Given the description of an element on the screen output the (x, y) to click on. 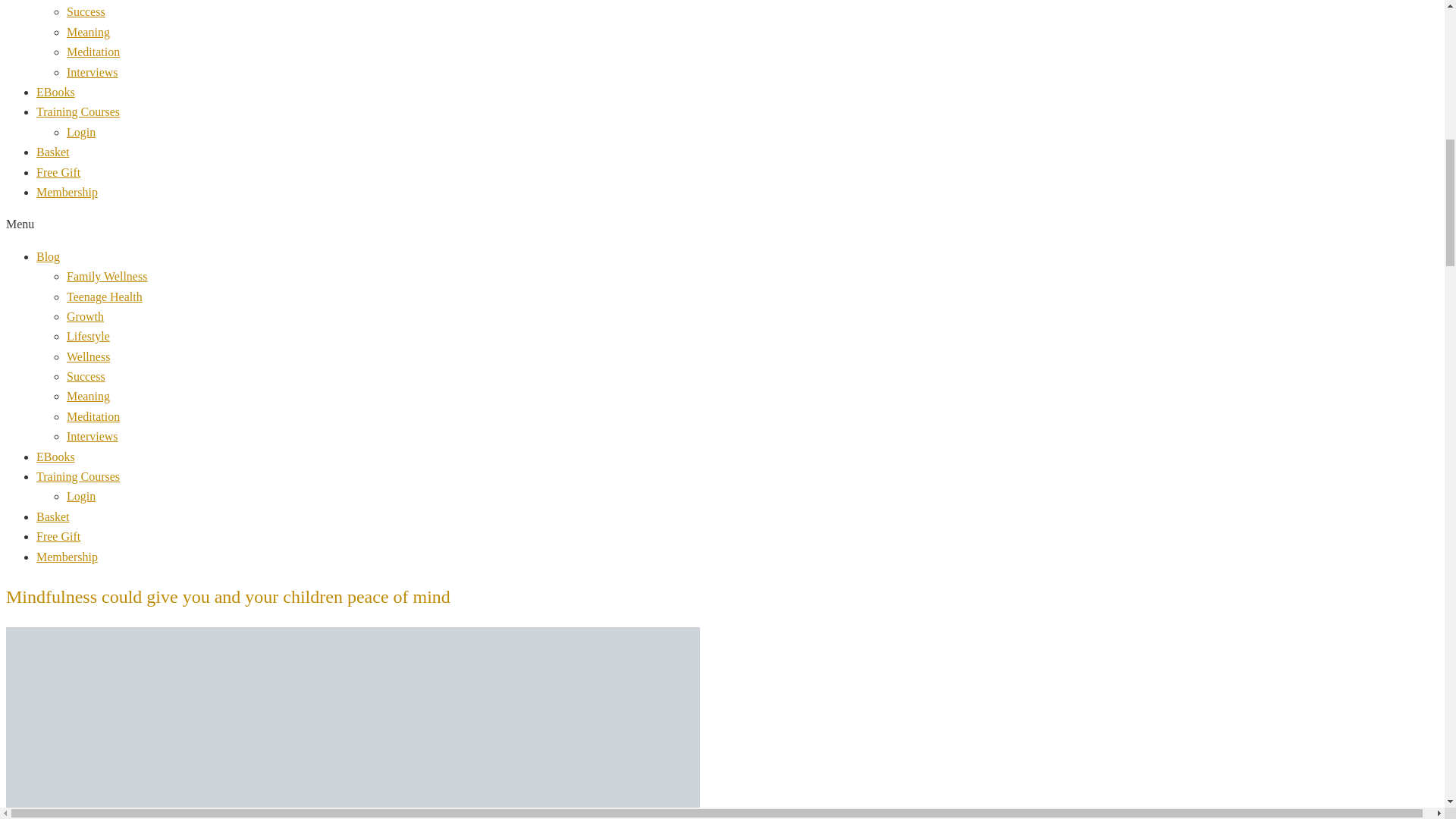
Free Gift (58, 172)
EBooks (55, 91)
Meaning (88, 31)
Wellness (88, 356)
Training Courses (77, 111)
Basket (52, 151)
Family Wellness (106, 276)
Blog (47, 256)
Success (85, 376)
Meditation (92, 416)
